Given the description of an element on the screen output the (x, y) to click on. 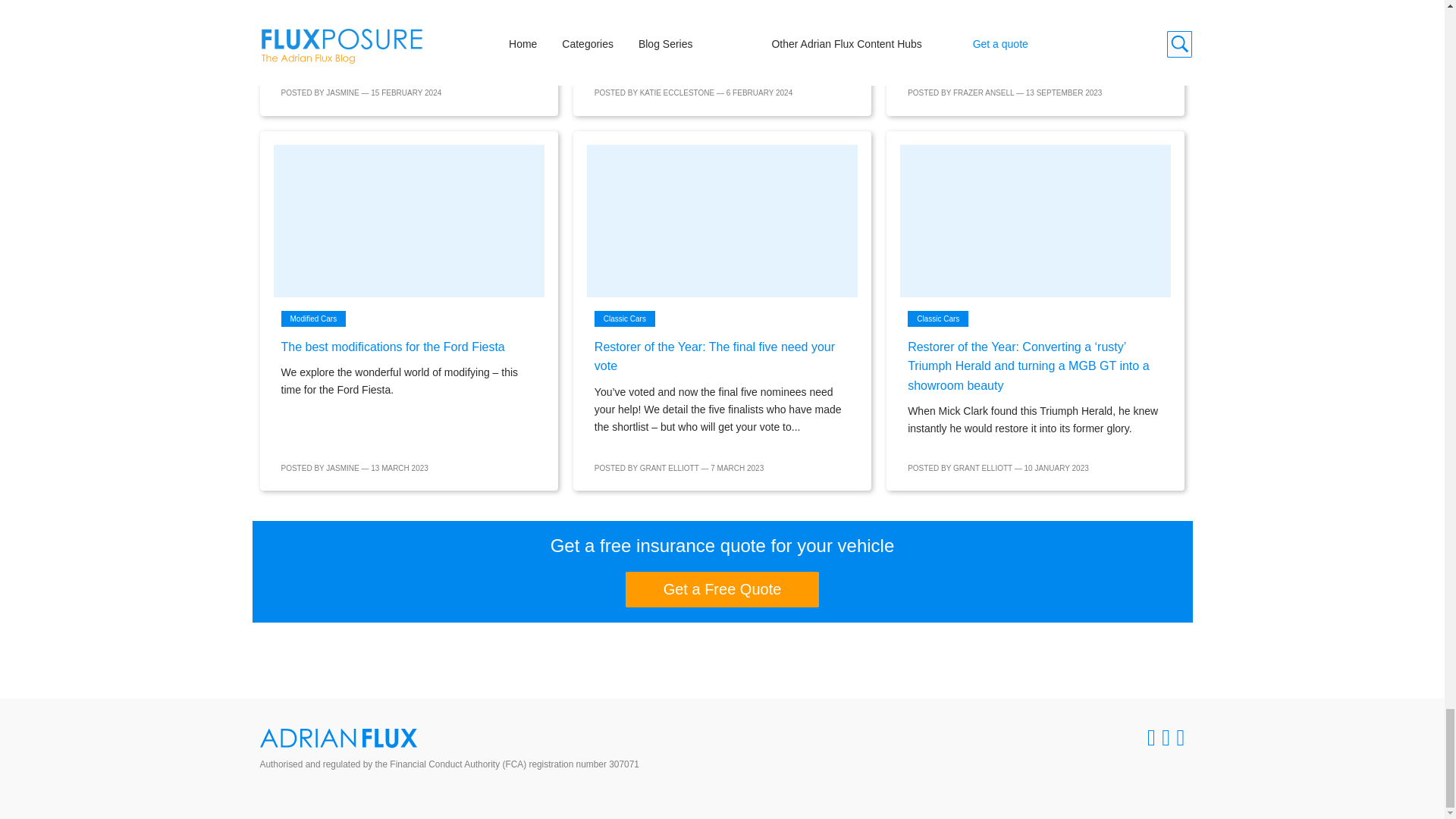
Posts by Katie Ecclestone (677, 92)
The best modifications for the Ford Fiesta (408, 220)
Posts by Frazer Ansell (983, 92)
Posts by Jasmine (342, 92)
